Given the description of an element on the screen output the (x, y) to click on. 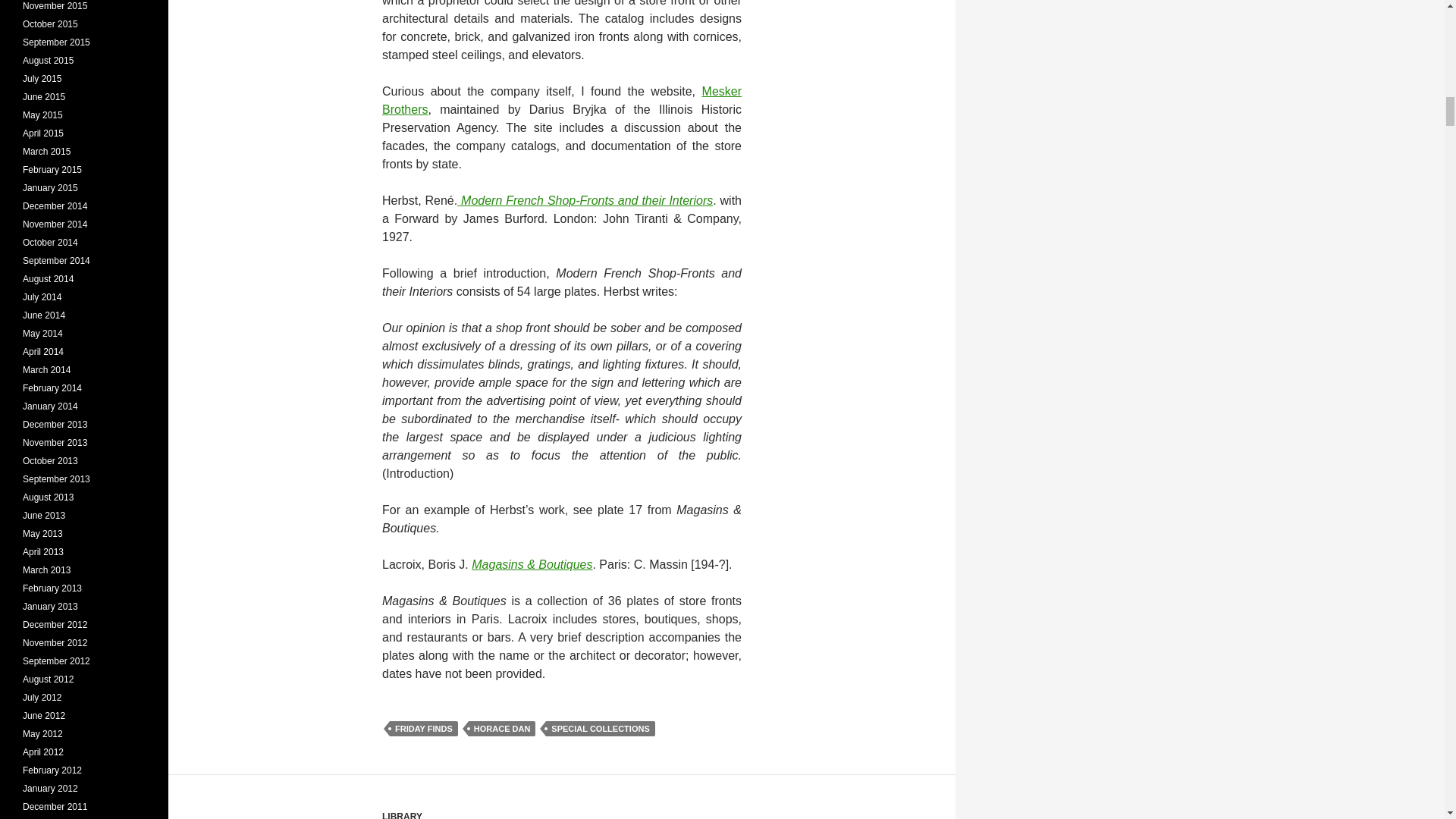
FRIDAY FINDS (424, 728)
SPECIAL COLLECTIONS (599, 728)
Mesker Brothers (561, 100)
Modern French Shop-Fronts and their Interiors (585, 200)
HORACE DAN (501, 728)
LIBRARY (401, 815)
